Given the description of an element on the screen output the (x, y) to click on. 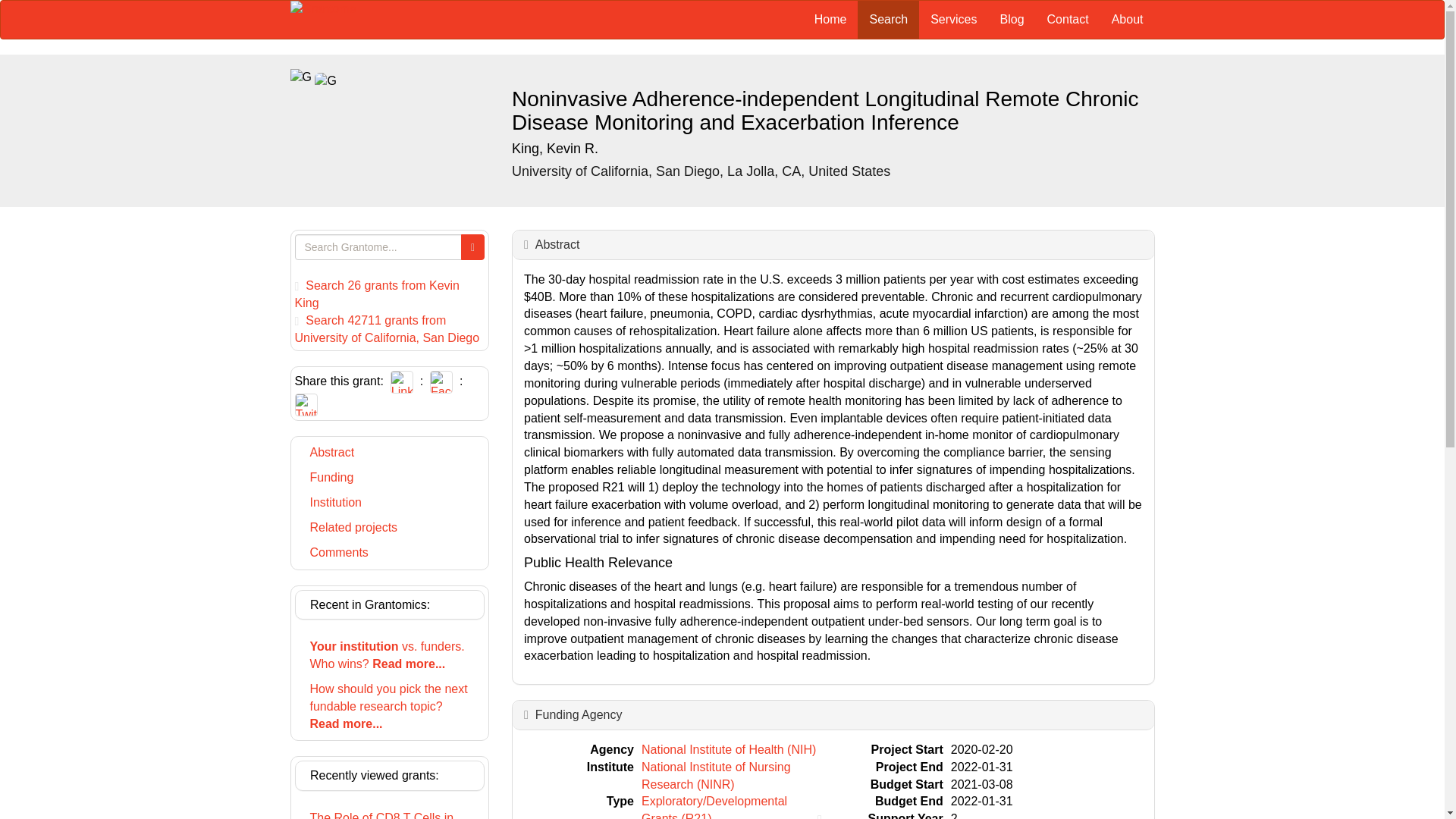
Share on LinkedIn... (401, 381)
Link to King's Pubmed publication list... (555, 148)
Contact (1067, 19)
About (1127, 19)
Home (831, 19)
Search Kevin King in Grantome... (377, 294)
Search University of California, San Diego in Grantome... (386, 328)
Abstract (557, 244)
